Given the description of an element on the screen output the (x, y) to click on. 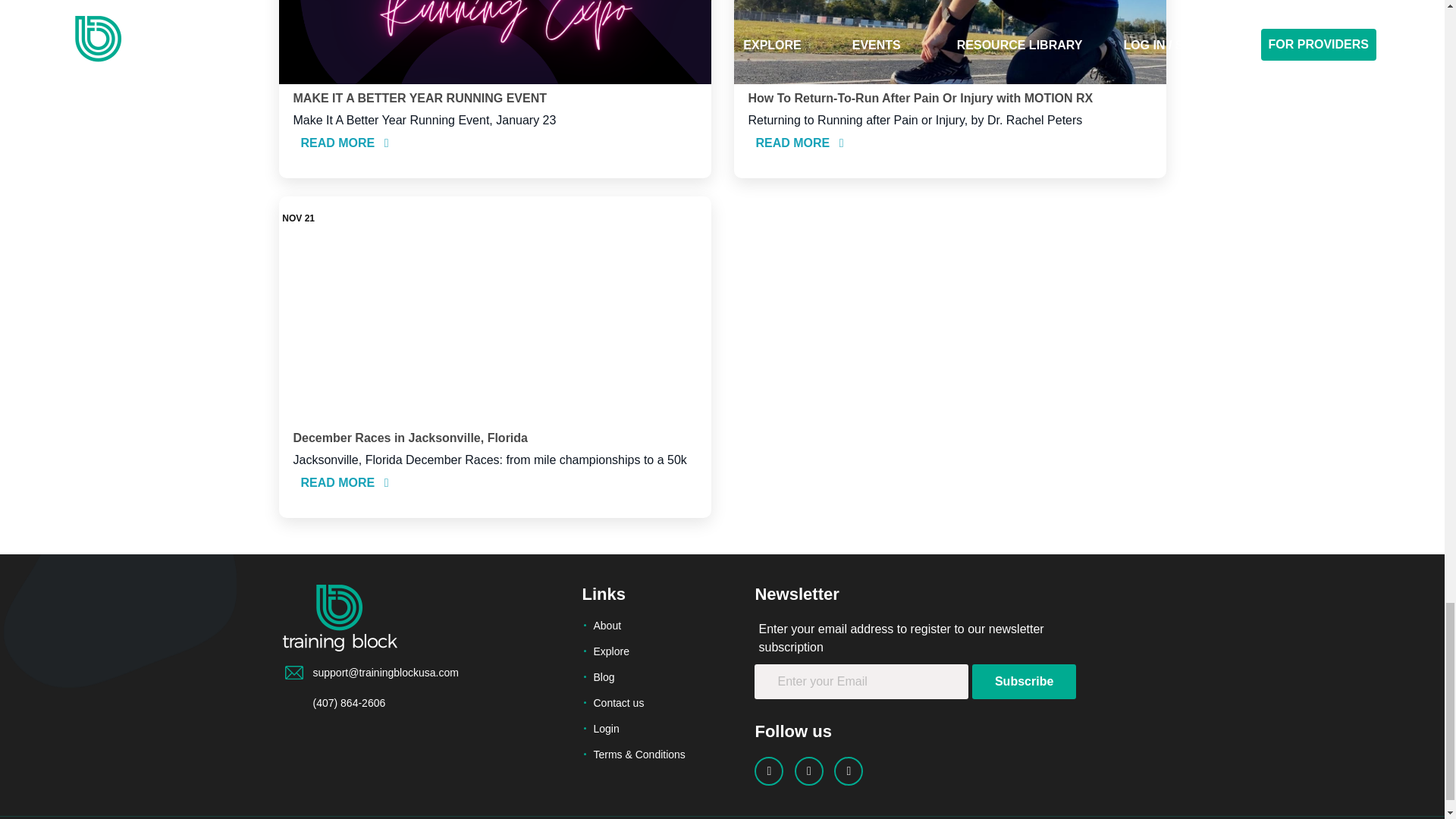
READ MORE (344, 142)
Facebook (768, 770)
Instagram (848, 770)
MAKE IT A BETTER YEAR RUNNING EVENT (419, 97)
Linkedin (809, 770)
Subscribe (1023, 681)
How To Return-To-Run After Pain Or Injury with MOTION RX (920, 97)
